Given the description of an element on the screen output the (x, y) to click on. 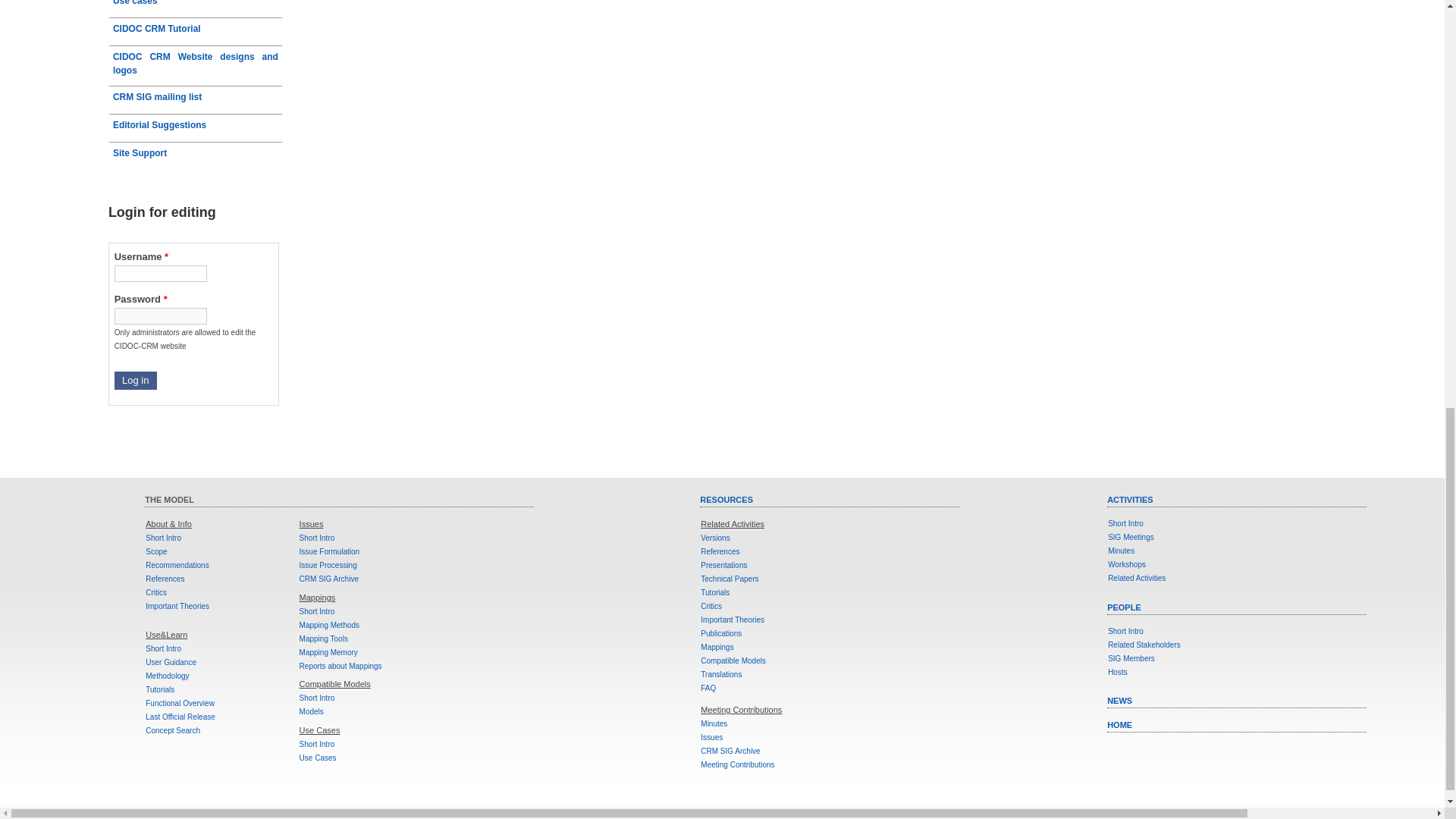
Log in (136, 380)
Use cases (195, 8)
